Given the description of an element on the screen output the (x, y) to click on. 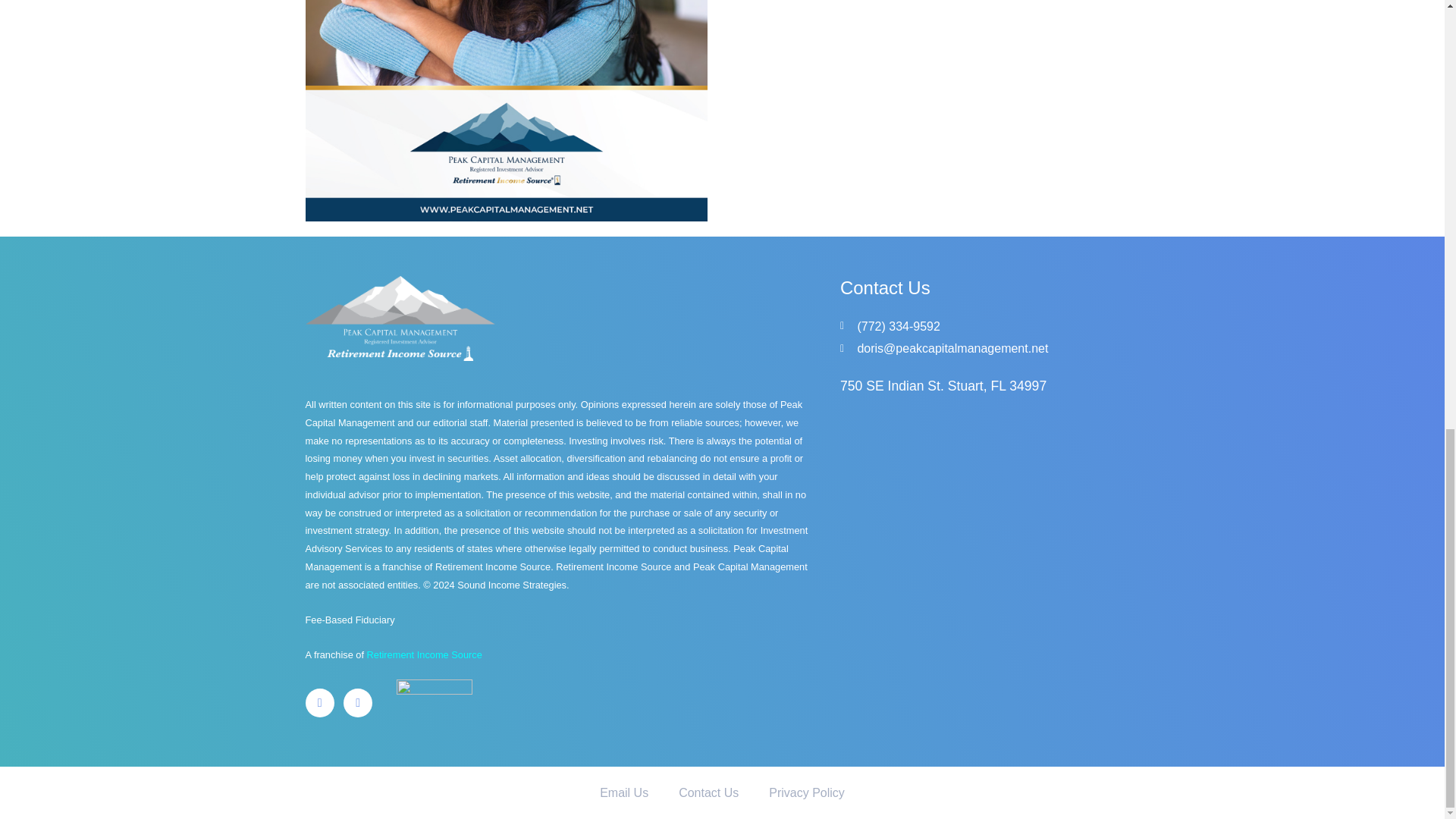
750 SE Indian St. Stuart, FL 34997 (990, 565)
